Given the description of an element on the screen output the (x, y) to click on. 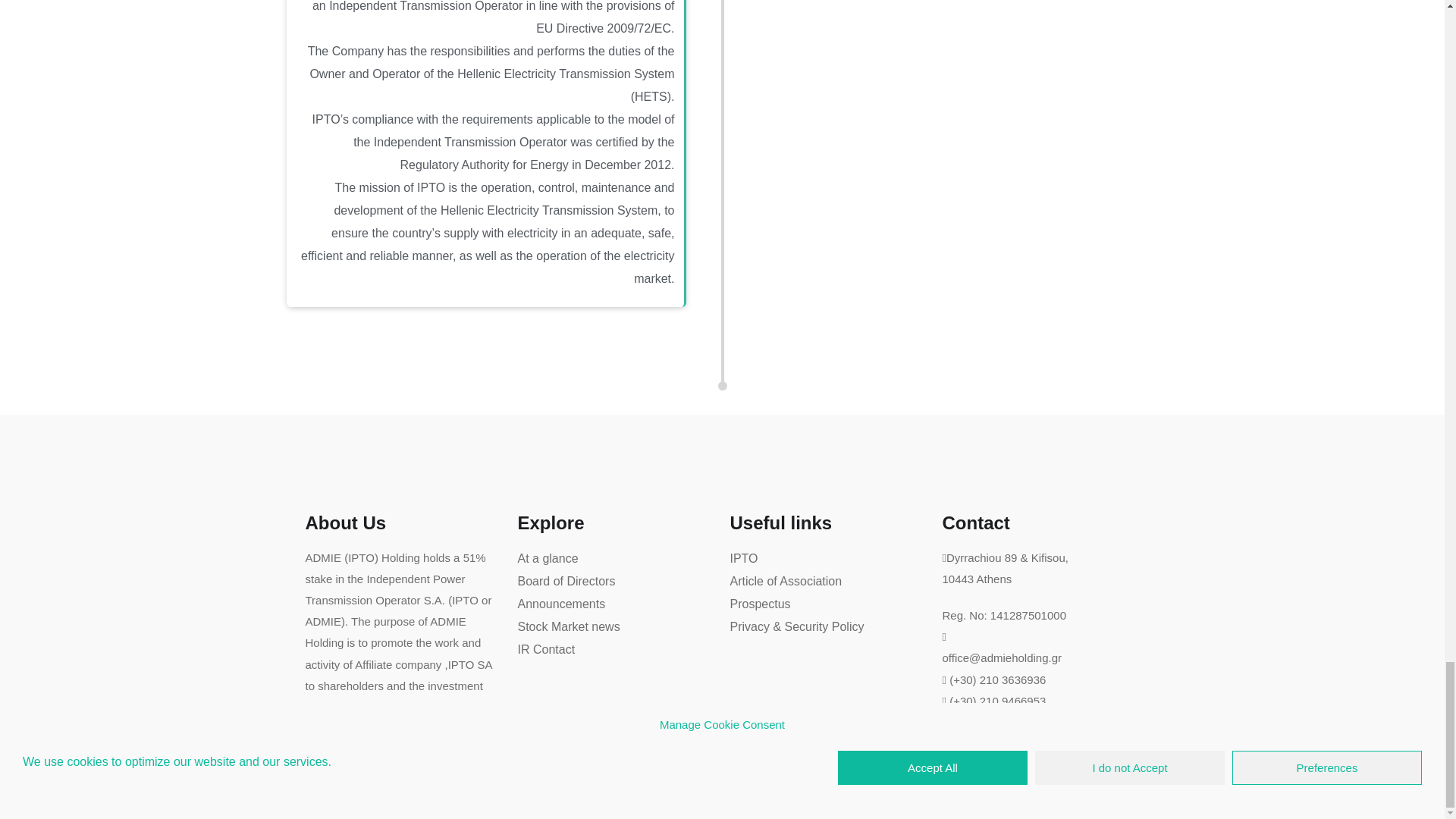
logo-header-eng (342, 792)
